Given the description of an element on the screen output the (x, y) to click on. 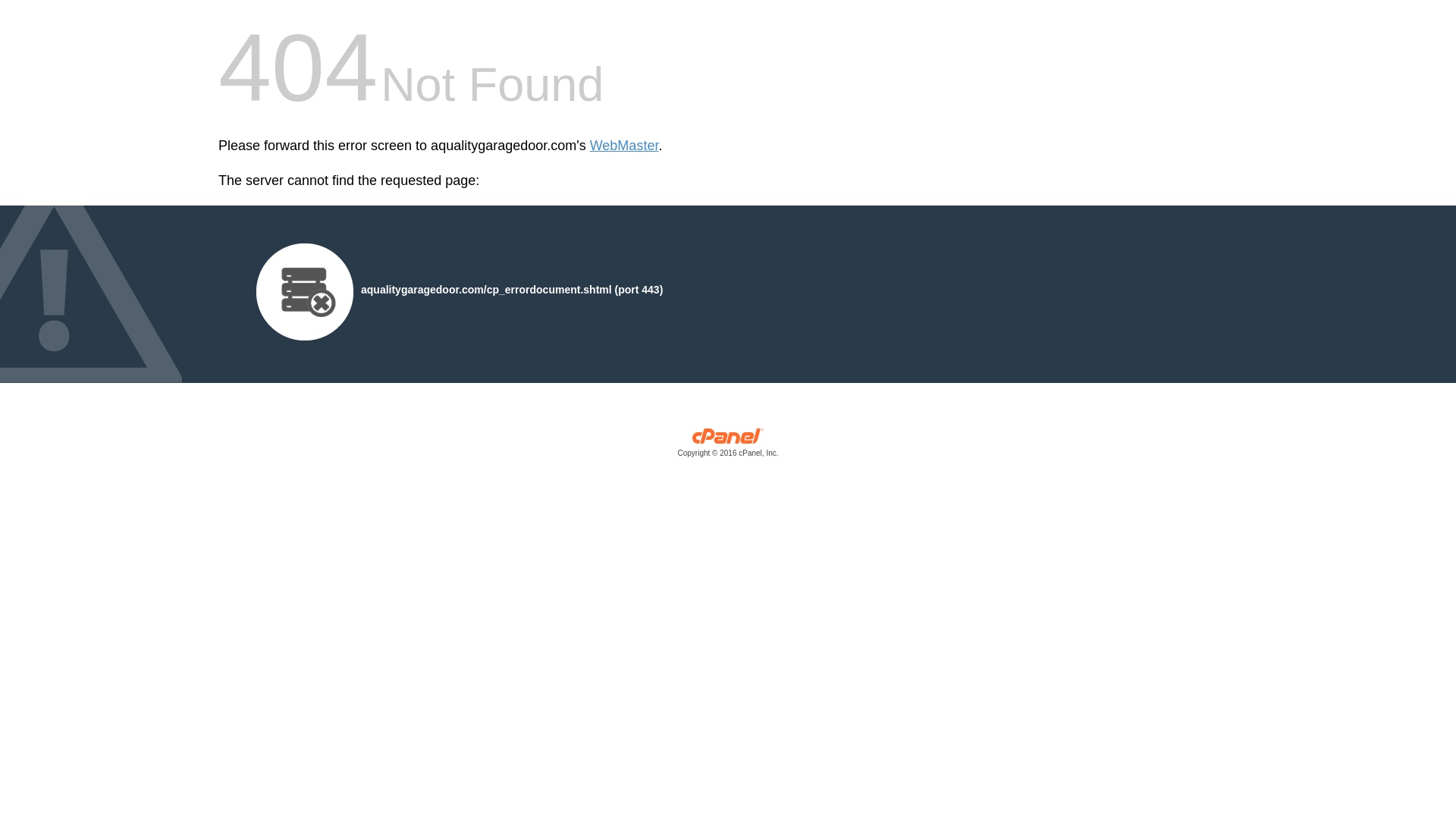
cPanel, Inc. (727, 446)
WebMaster (624, 145)
